Given the description of an element on the screen output the (x, y) to click on. 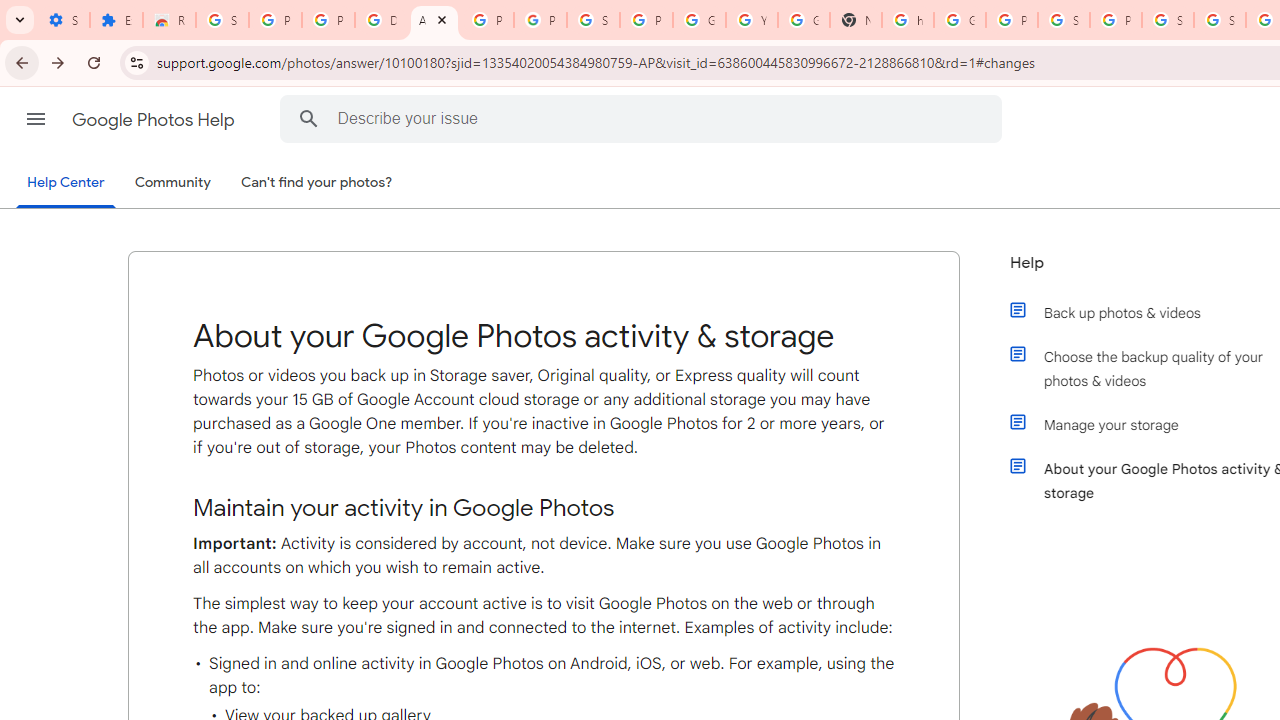
Sign in - Google Accounts (1167, 20)
Describe your issue (644, 118)
Delete photos & videos - Computer - Google Photos Help (381, 20)
Google Photos Help (155, 119)
New Tab (855, 20)
Sign in - Google Accounts (1064, 20)
https://scholar.google.com/ (907, 20)
Can't find your photos? (317, 183)
Sign in - Google Accounts (593, 20)
